Given the description of an element on the screen output the (x, y) to click on. 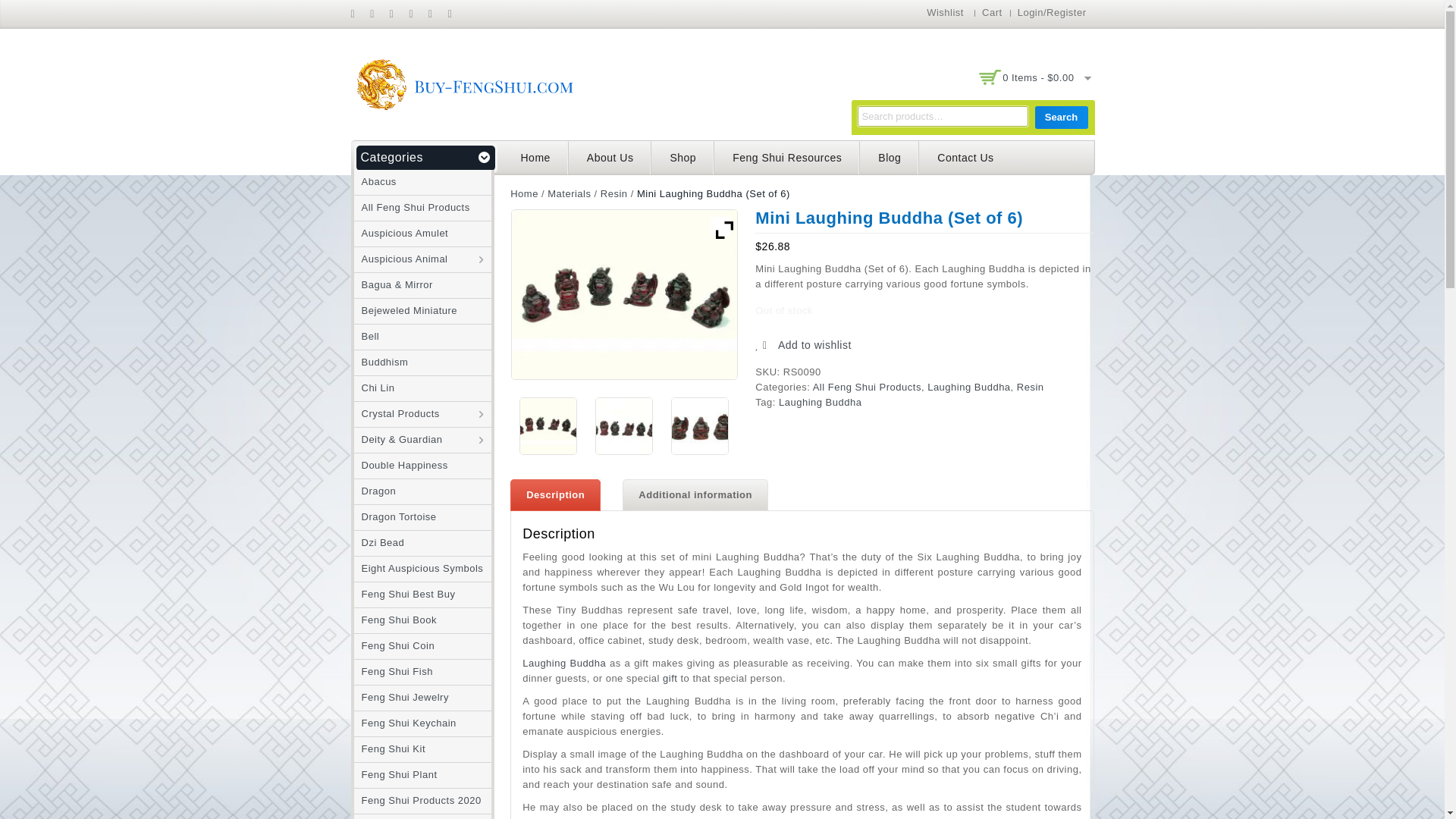
Wishlist (944, 12)
Bell (365, 336)
Search (1060, 117)
Chi Lin (373, 387)
Auspicious Amulet (400, 233)
Auspicious Animal (399, 258)
Cart (992, 12)
View your shopping cart (1038, 77)
All Feng Shui Products (410, 206)
Bejeweled Miniature (405, 310)
Buddhism (380, 361)
Buy-FengShui.com (464, 83)
View your shopping cart (1034, 78)
Abacus (374, 181)
